Given the description of an element on the screen output the (x, y) to click on. 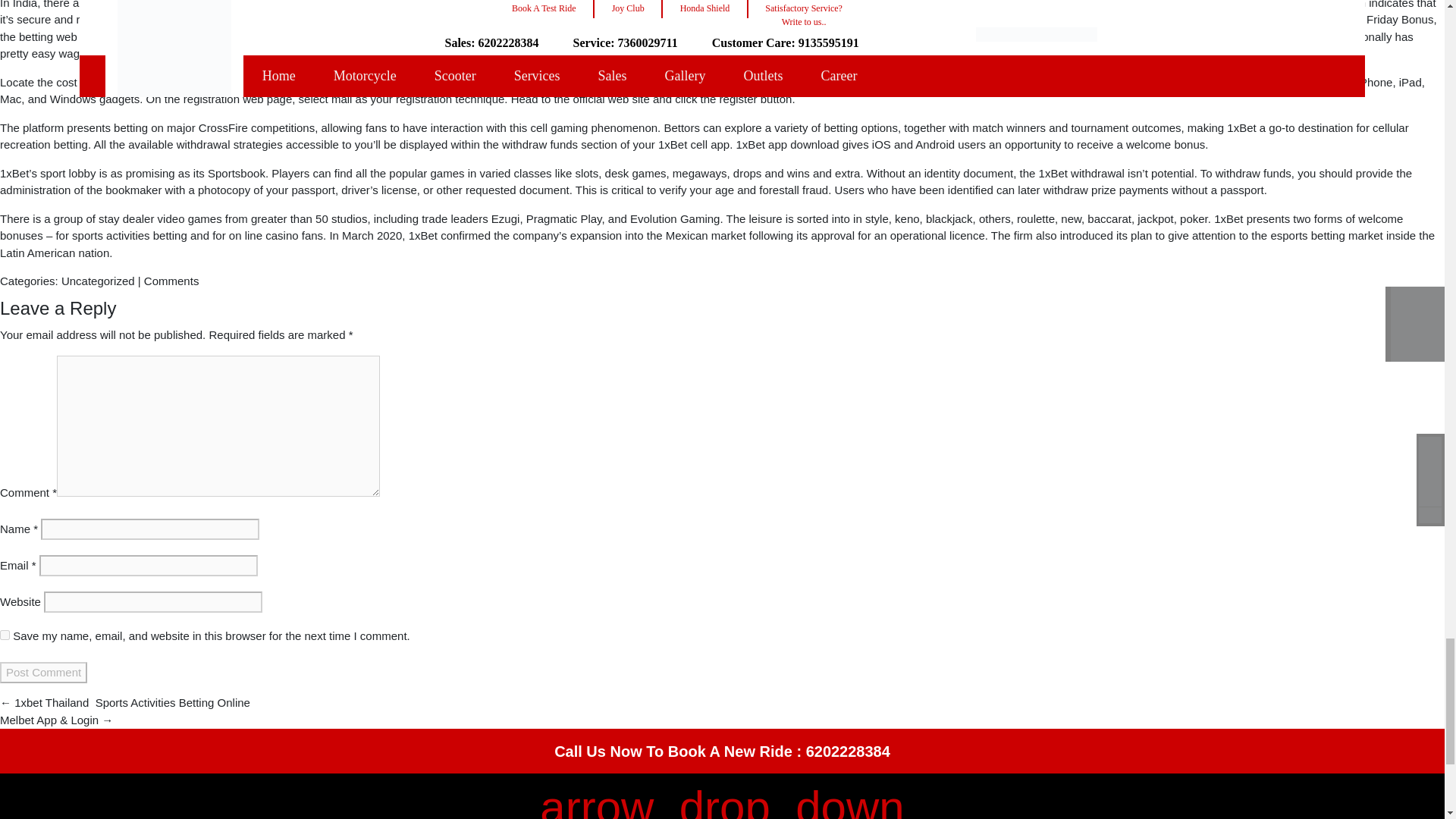
yes (5, 634)
Post Comment (43, 672)
